Given the description of an element on the screen output the (x, y) to click on. 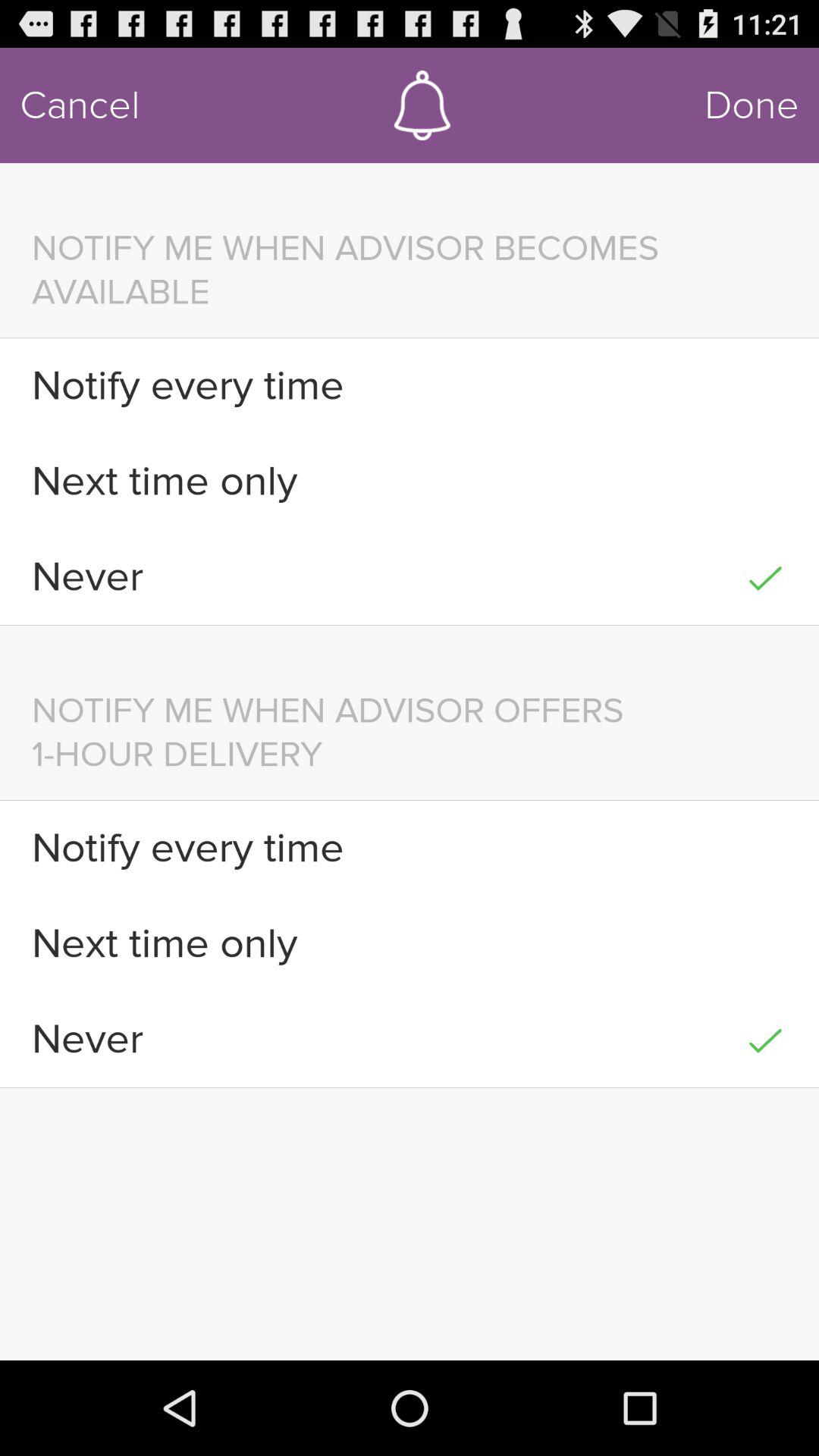
scroll to done icon (751, 105)
